Given the description of an element on the screen output the (x, y) to click on. 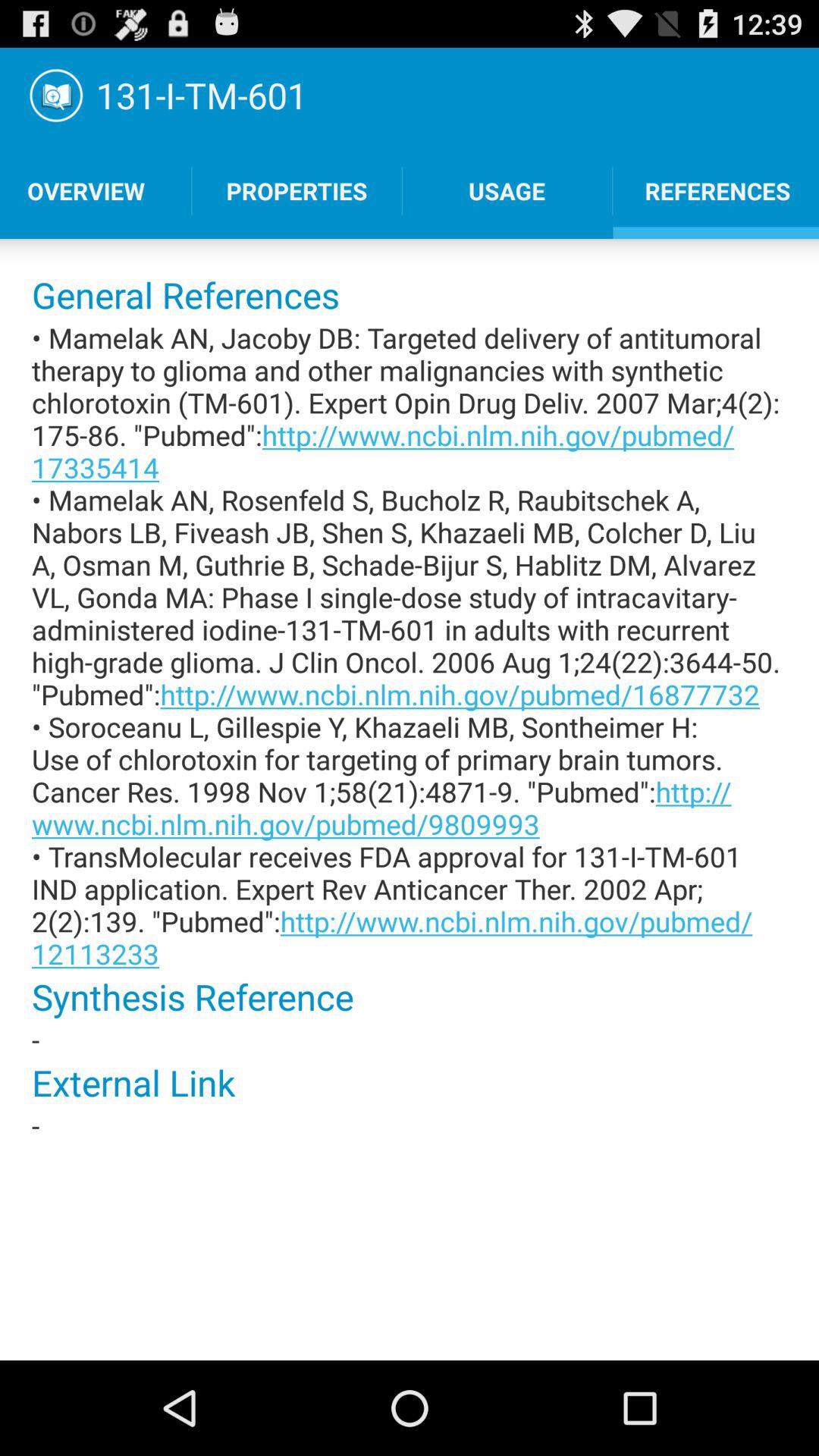
click on properties (297, 190)
click on the icon which is at the top left of the page (55, 95)
